Given the description of an element on the screen output the (x, y) to click on. 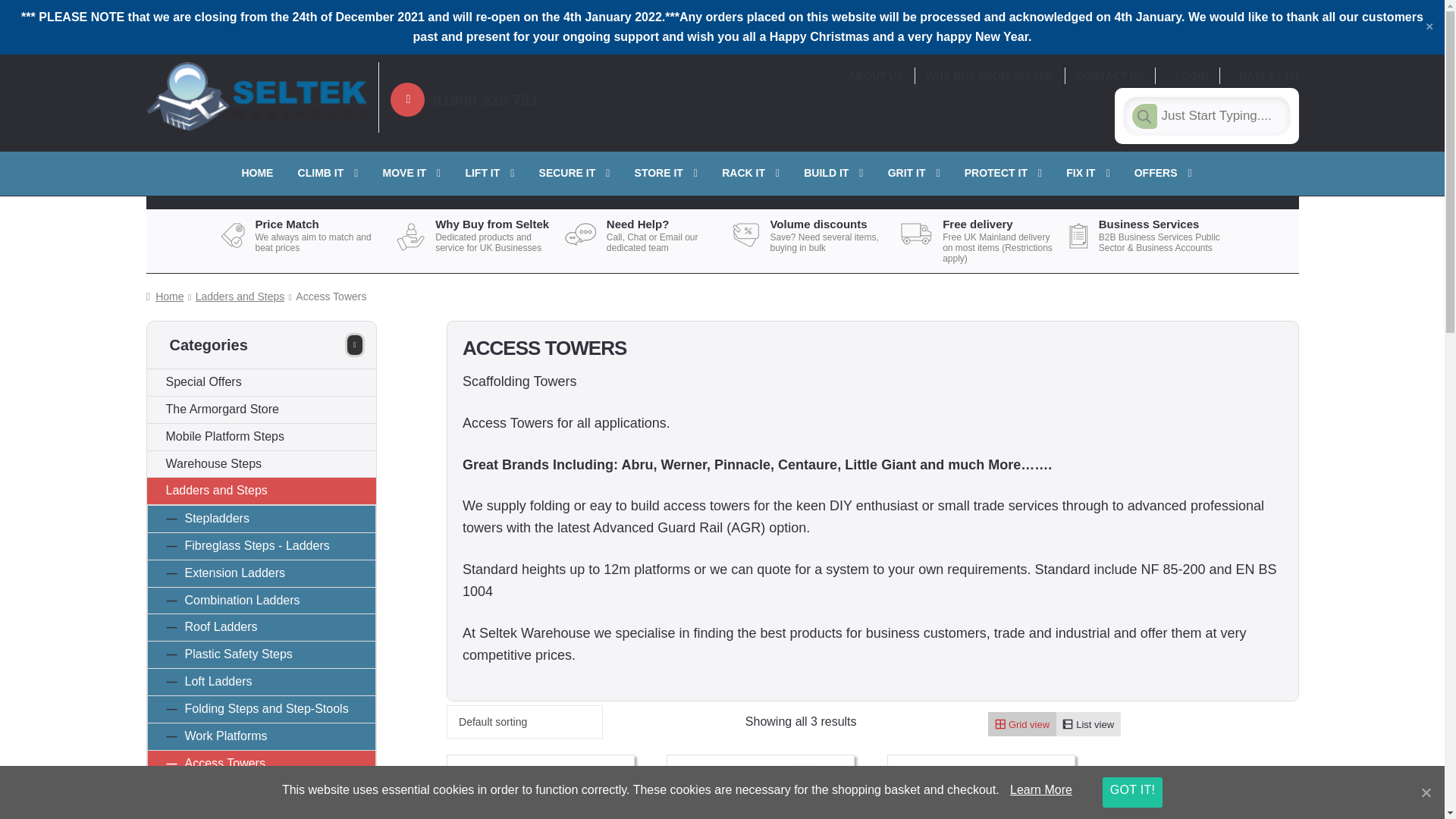
CLIMB IT (327, 172)
WHY BUY FROM SELTEK (989, 75)
01908 320 731 (485, 99)
CONTACT US (1110, 75)
ABOUT US (876, 75)
LOGIN (1187, 75)
List view (1089, 723)
HOME (256, 172)
Grid view (1021, 723)
